Given the description of an element on the screen output the (x, y) to click on. 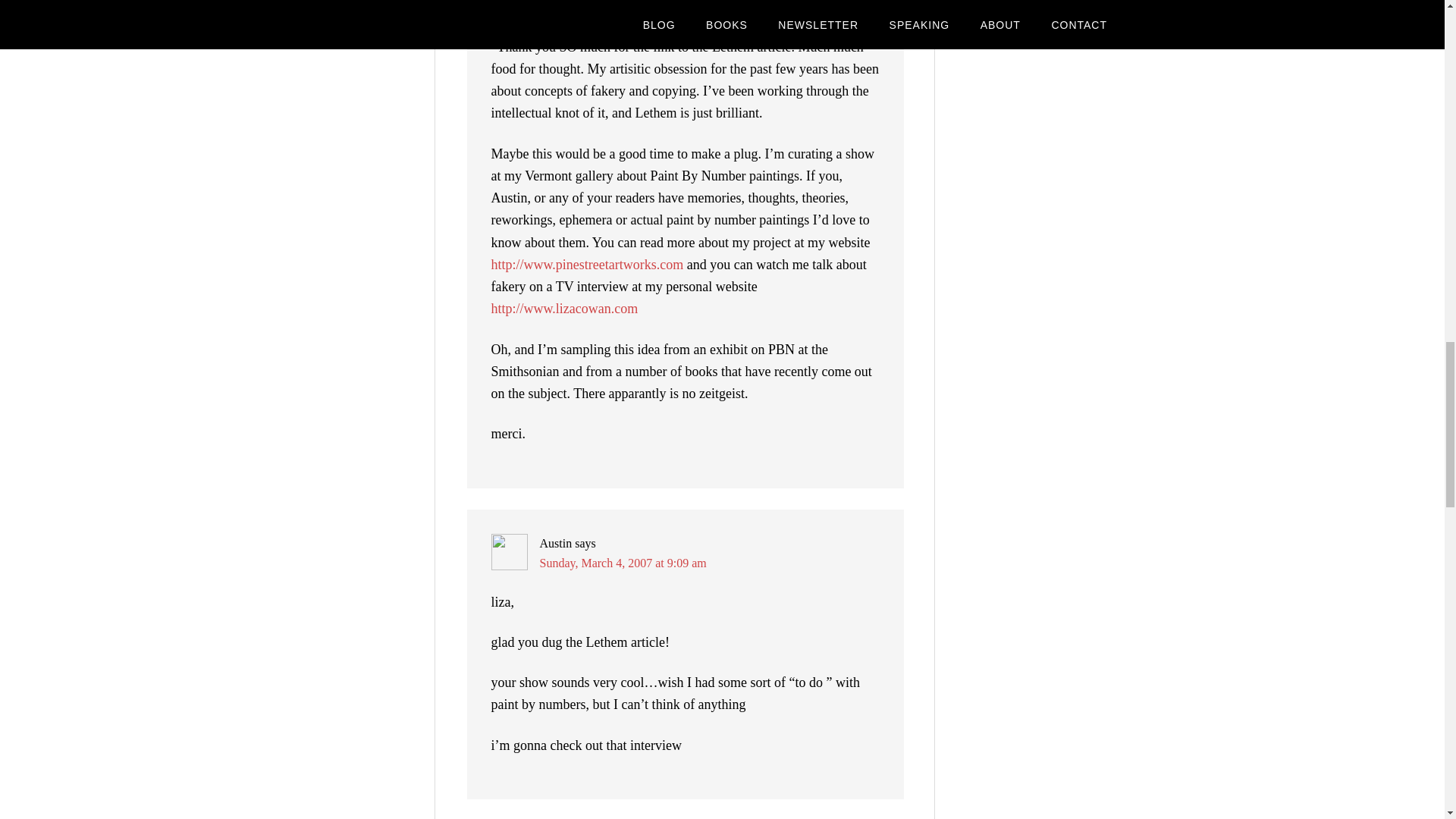
Saturday, March 3, 2007 at 11:34 pm (629, 7)
Sunday, March 4, 2007 at 9:09 am (623, 562)
